Given the description of an element on the screen output the (x, y) to click on. 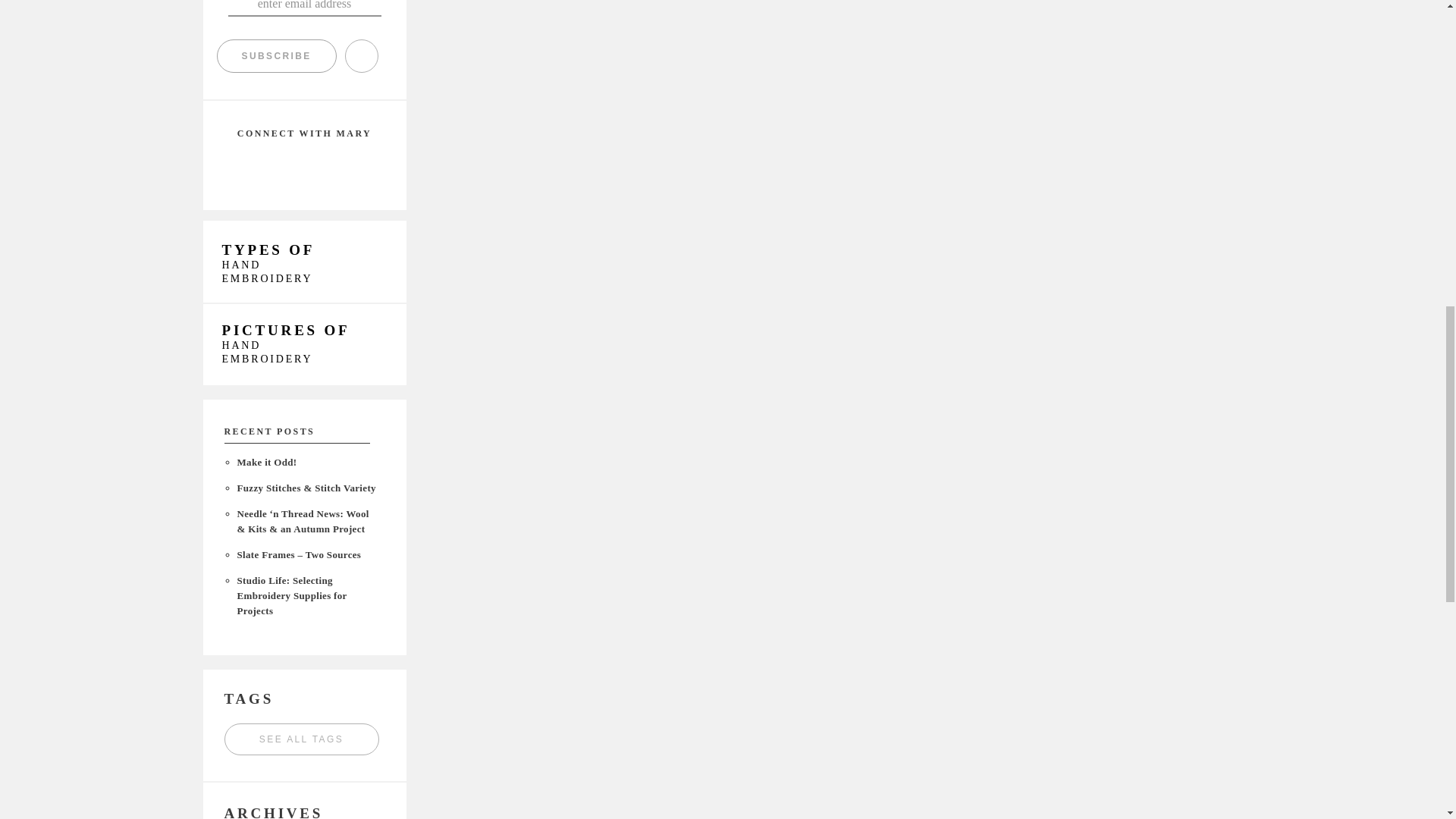
Connect with Mary on Facebook (260, 167)
News Signup (303, 8)
Follow Mary on Pinterest (347, 167)
Follow Mary on Twitter (304, 167)
